Given the description of an element on the screen output the (x, y) to click on. 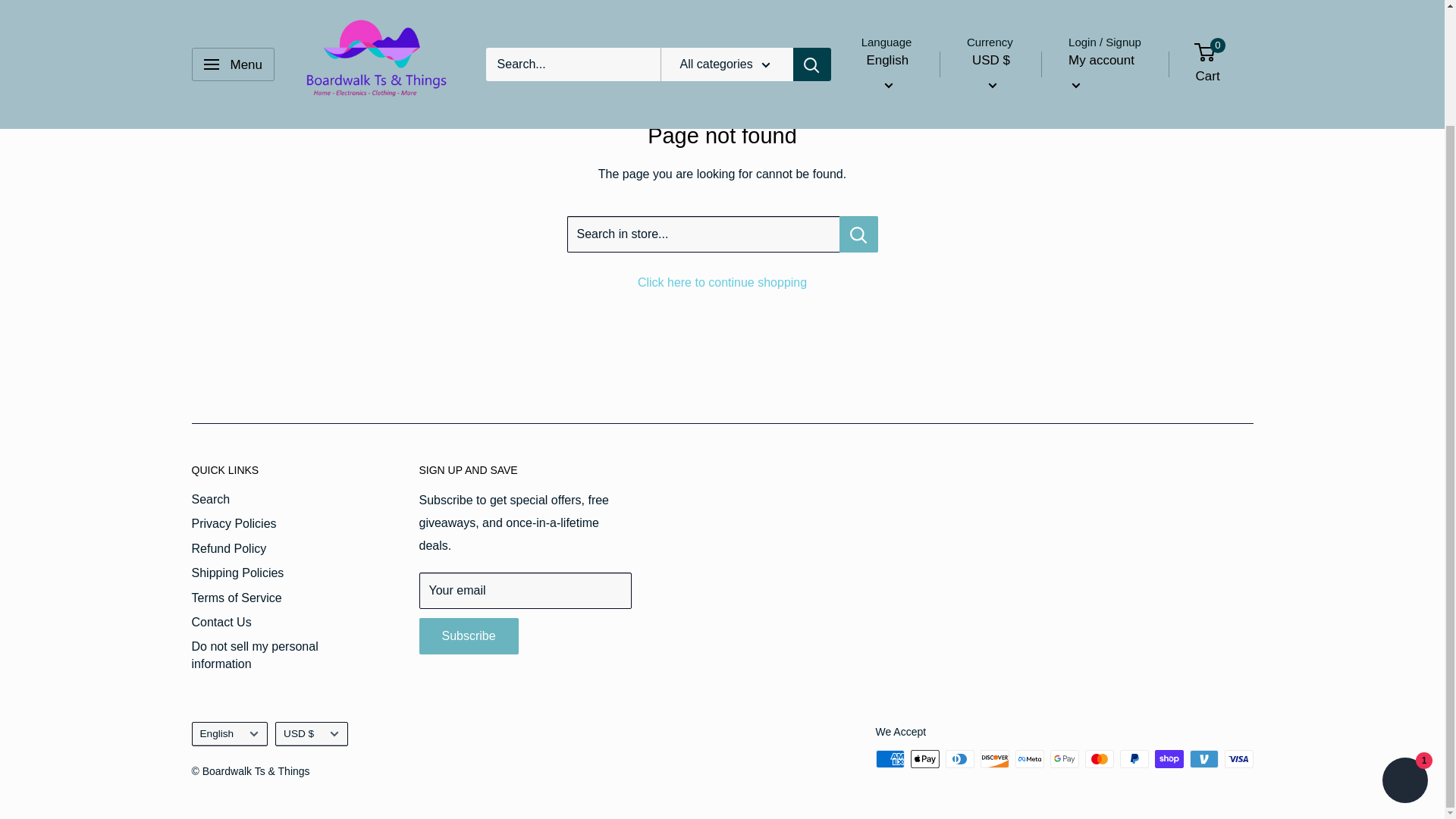
CAD (1005, 0)
fr (897, 12)
en (897, 0)
USD (1005, 12)
Shopify online store chat (1404, 644)
